Given the description of an element on the screen output the (x, y) to click on. 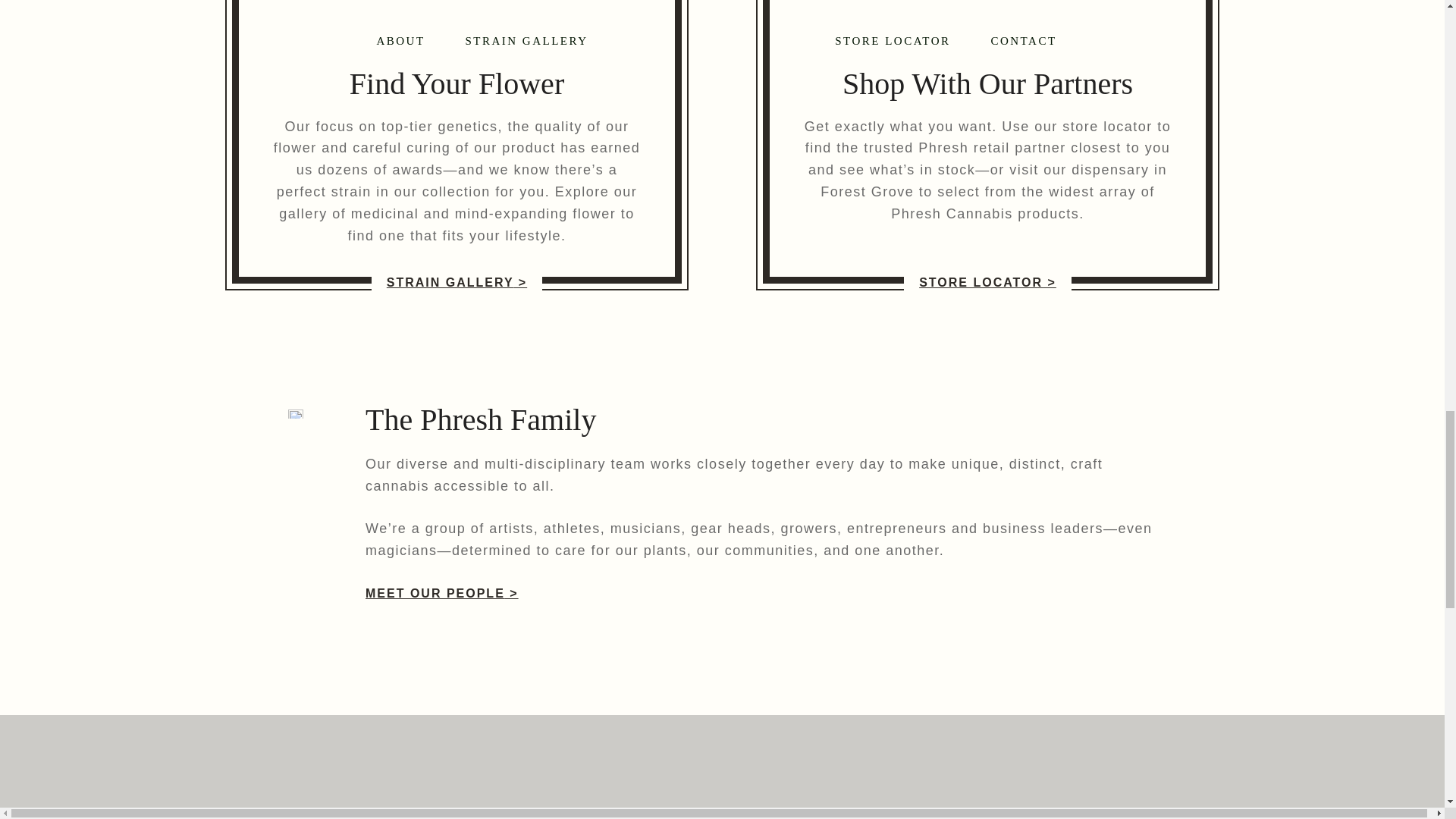
STRAIN GALLERY (456, 282)
MEET OUR PEOPLE (441, 593)
STORE LOCATOR (987, 282)
